Given the description of an element on the screen output the (x, y) to click on. 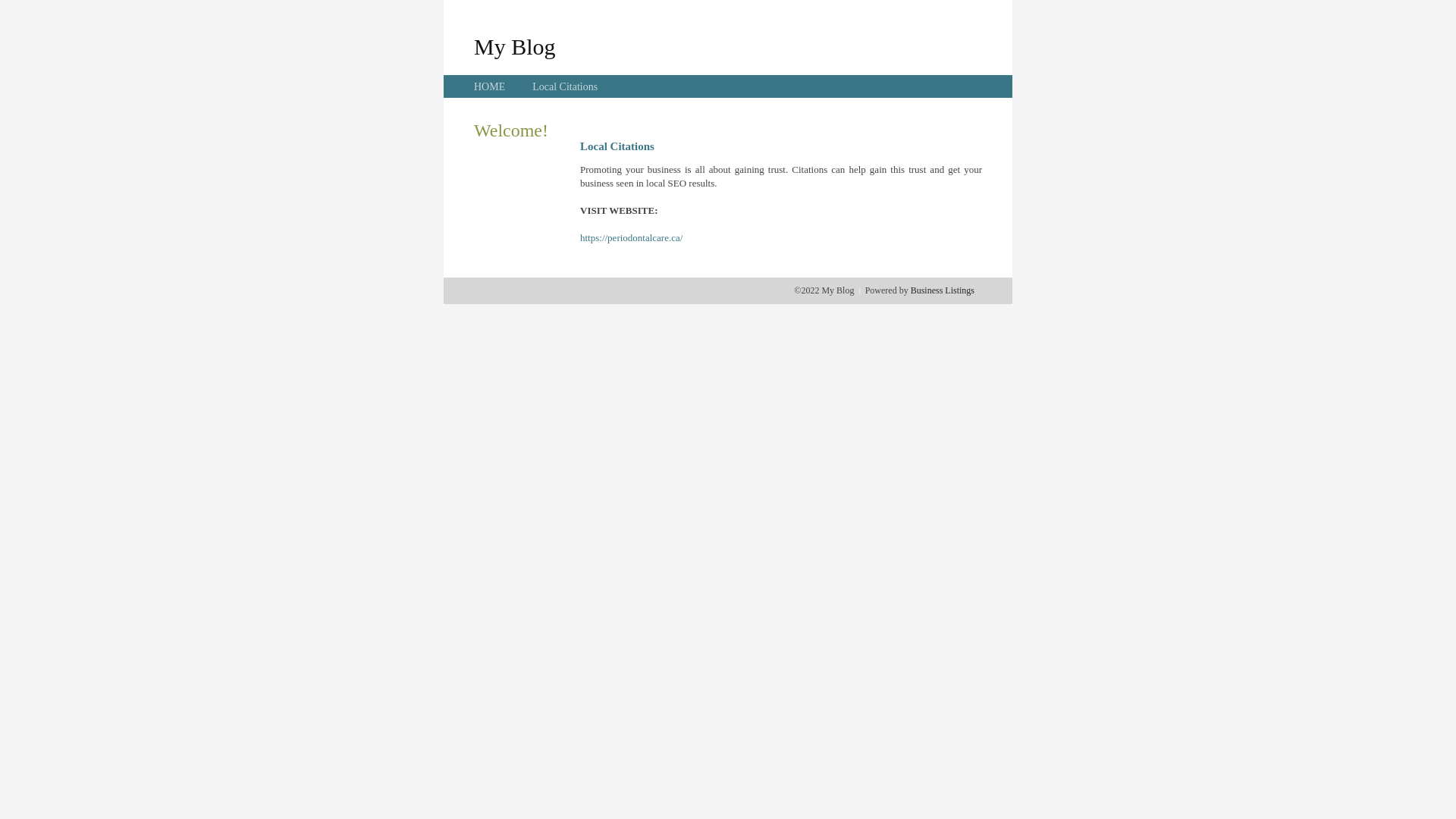
Business Listings Element type: text (942, 290)
My Blog Element type: text (514, 46)
https://periodontalcare.ca/ Element type: text (631, 237)
HOME Element type: text (489, 86)
Local Citations Element type: text (564, 86)
